Given the description of an element on the screen output the (x, y) to click on. 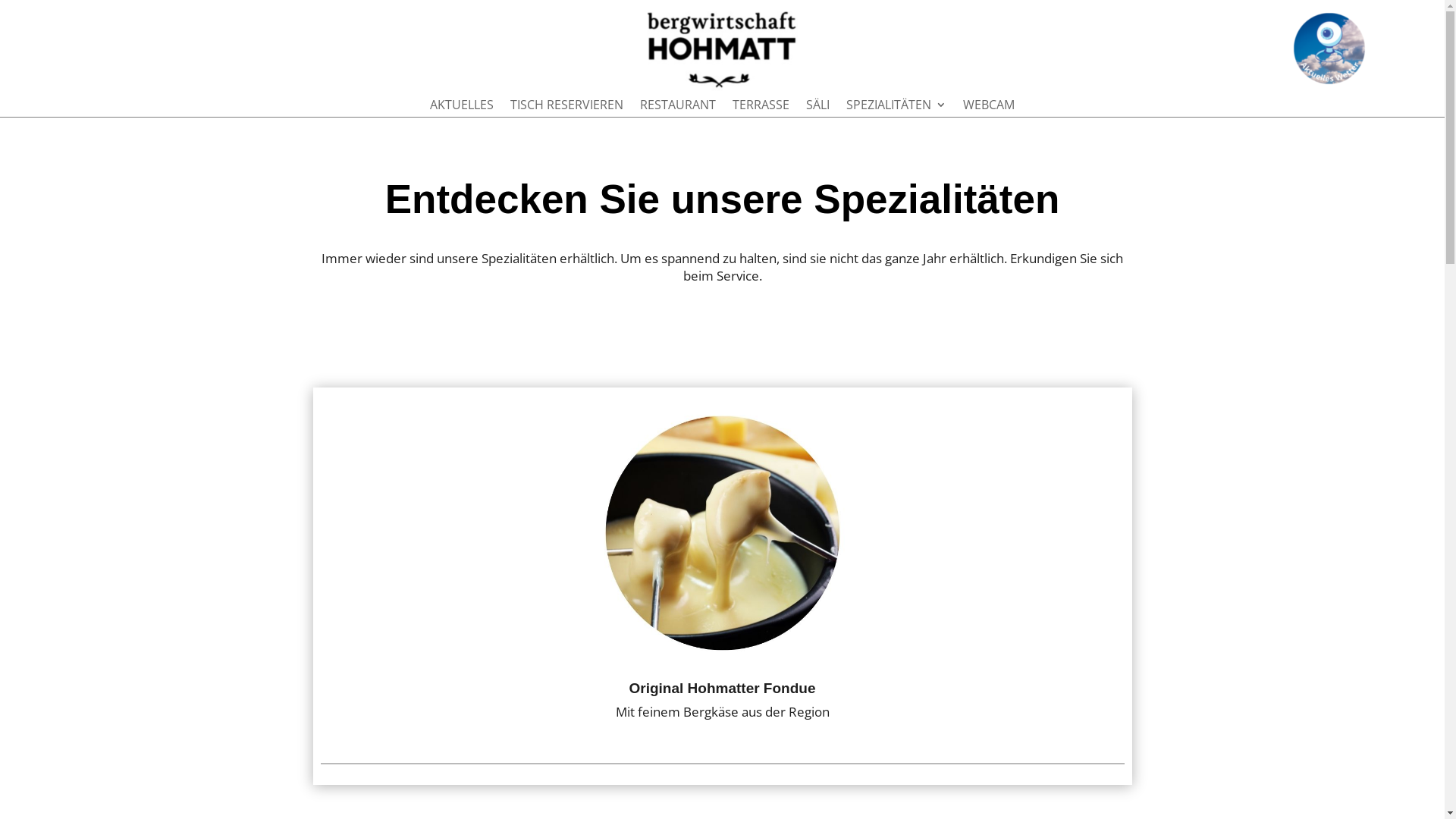
RESTAURANT Element type: text (677, 107)
Webcam Element type: hover (1329, 48)
AKTUELLES Element type: text (461, 107)
Logo Element type: hover (721, 50)
TISCH RESERVIEREN Element type: text (566, 107)
TERRASSE Element type: text (760, 107)
WEBCAM Element type: text (988, 107)
